Given the description of an element on the screen output the (x, y) to click on. 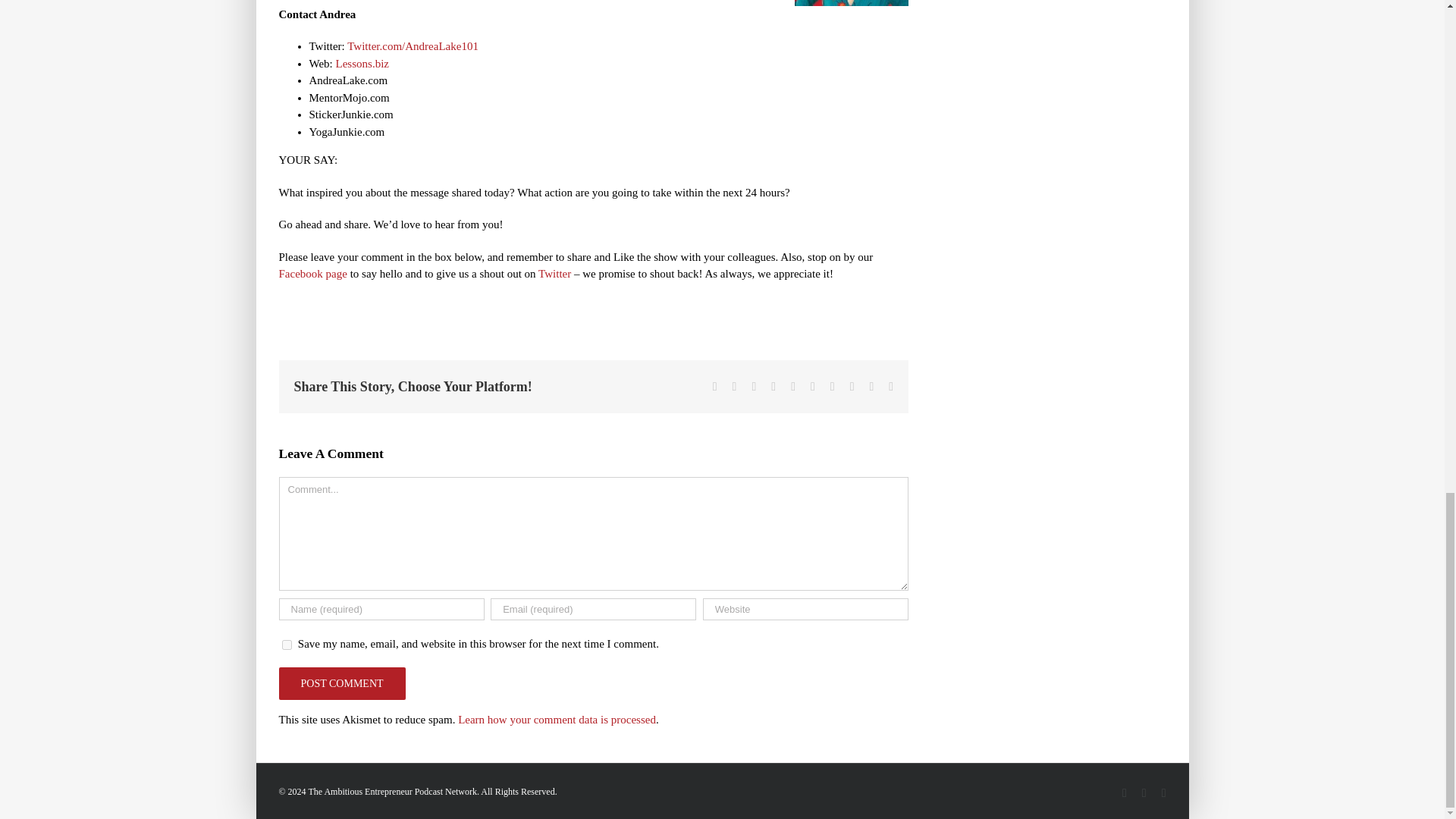
Facebook page (313, 273)
Twitter (554, 273)
Lessons.biz (362, 62)
yes (287, 644)
Post Comment (342, 683)
